Given the description of an element on the screen output the (x, y) to click on. 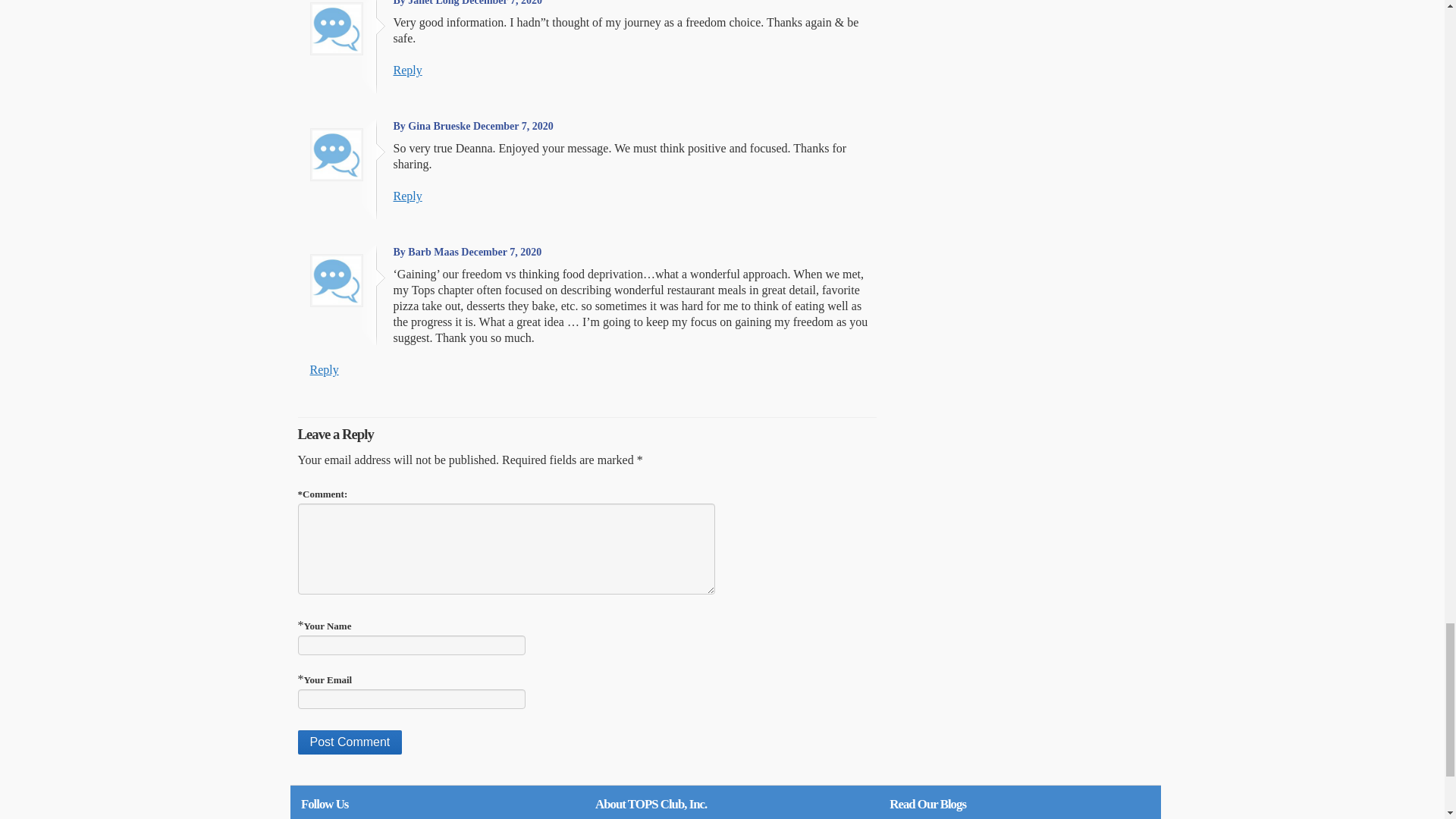
Post Comment (349, 742)
